Given the description of an element on the screen output the (x, y) to click on. 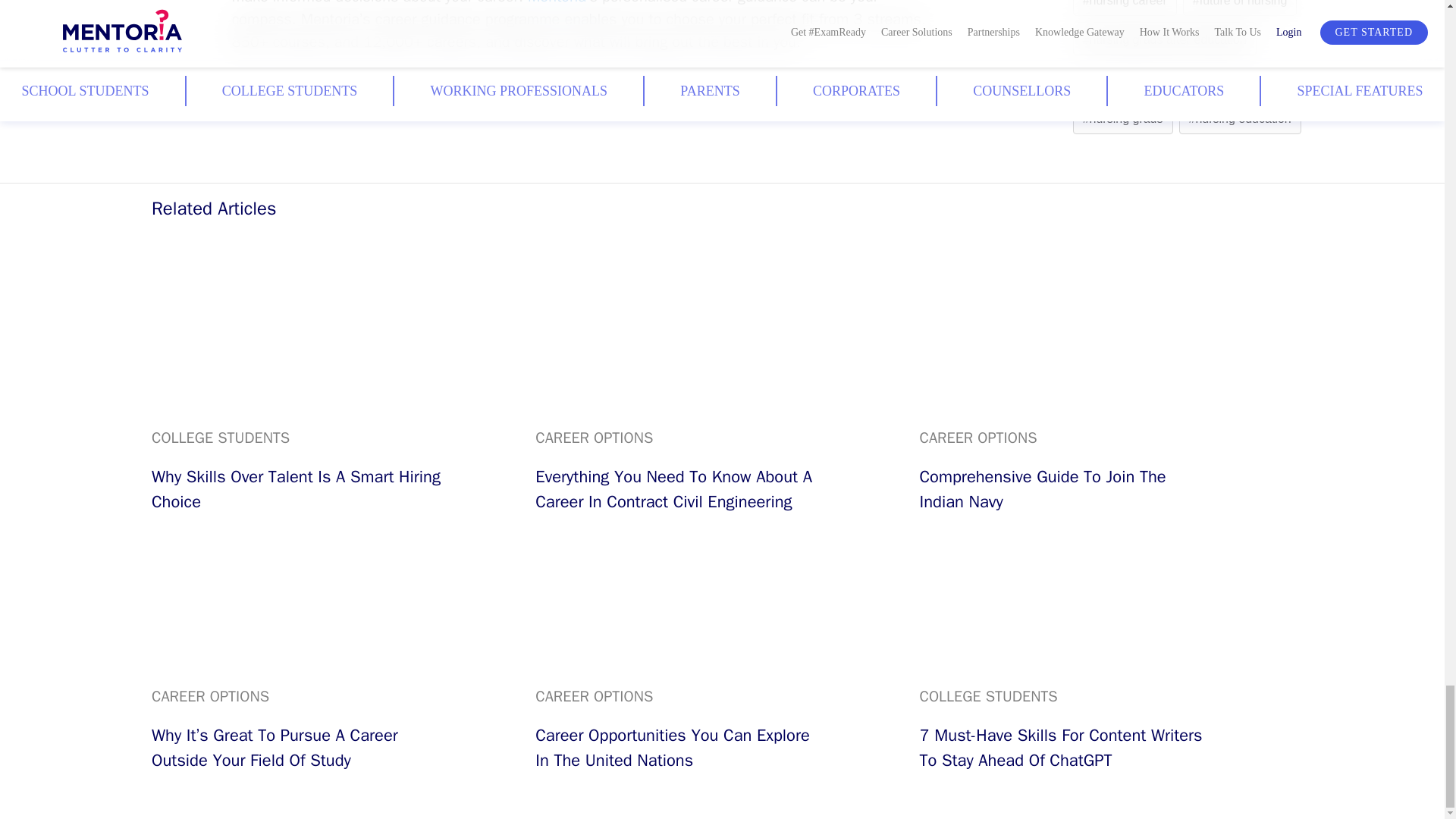
nursing career (1125, 3)
future of nursing (1239, 3)
nursing grads choosing foreign countries (1195, 78)
nursing education (1240, 118)
nursing grads after education (1164, 39)
nursing grads (1123, 118)
